Given the description of an element on the screen output the (x, y) to click on. 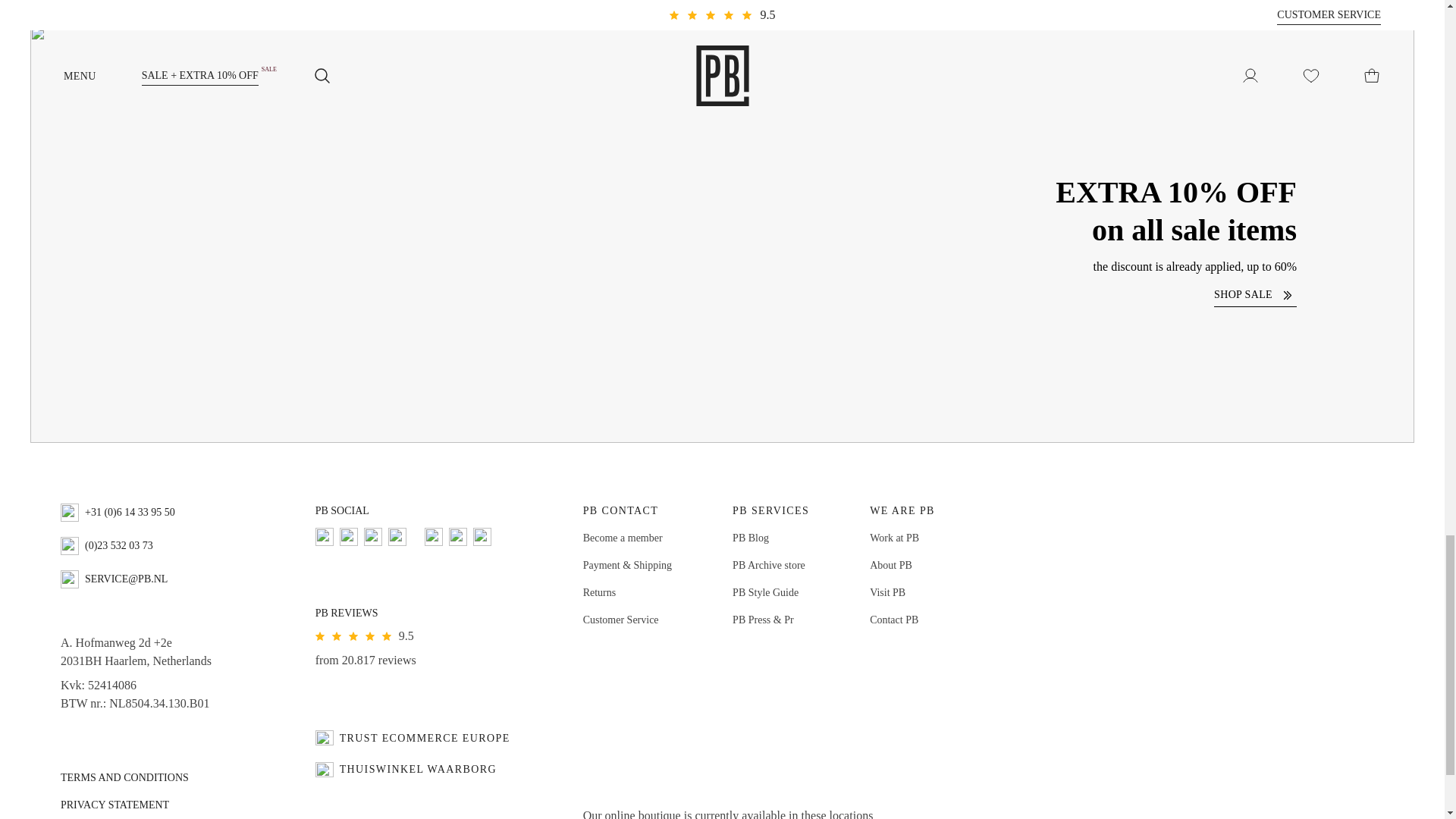
SHOP SALE (1255, 294)
